Given the description of an element on the screen output the (x, y) to click on. 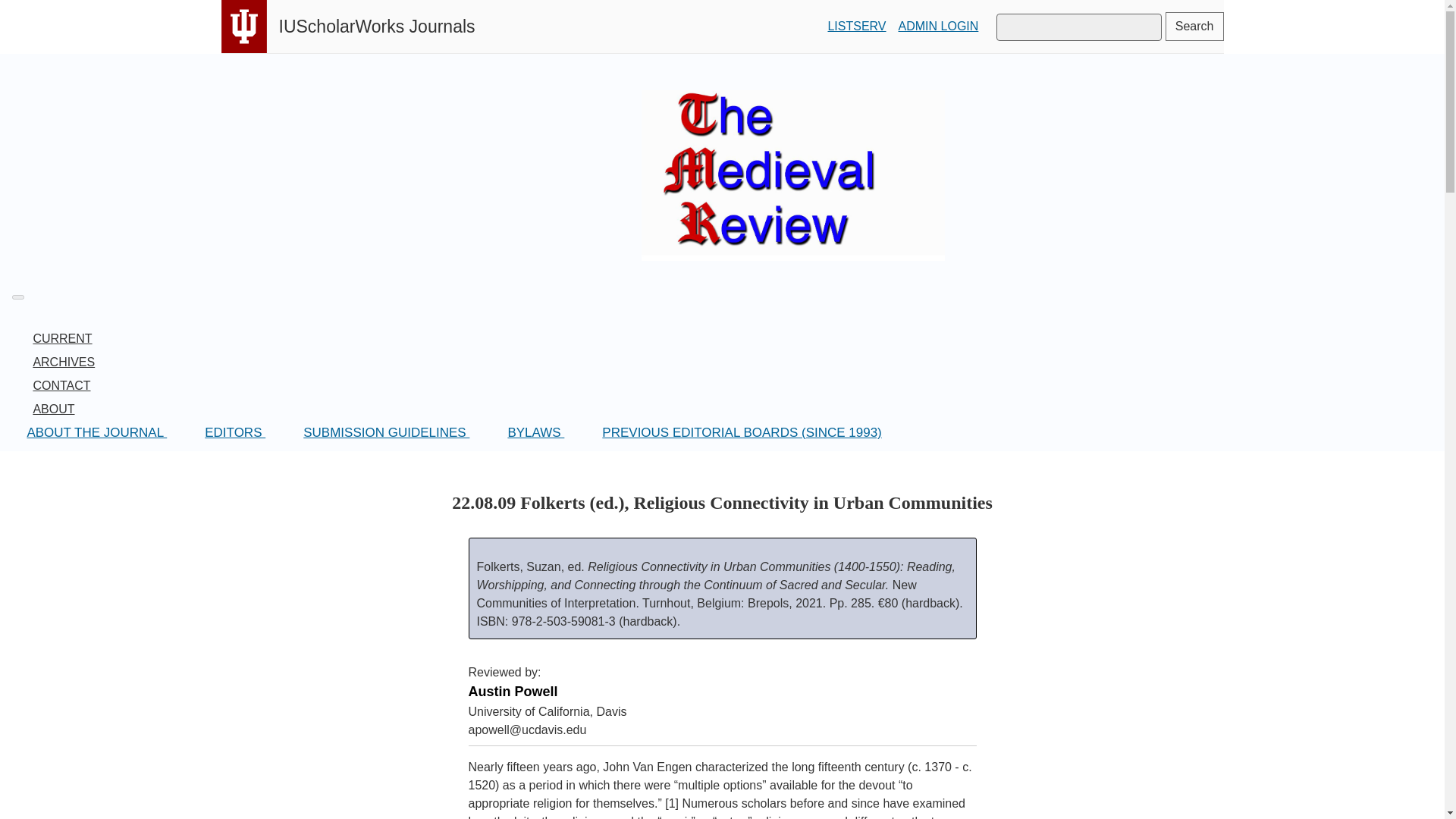
CURRENT (62, 338)
SUBMISSION GUIDELINES (386, 432)
EDITORS (235, 432)
IUScholarWorks Journals (377, 26)
ADMIN LOGIN (938, 26)
LISTSERV (856, 26)
ARCHIVES (63, 362)
CONTACT (61, 385)
Search (1195, 26)
BYLAWS (535, 432)
ABOUT (53, 408)
ABOUT THE JOURNAL (96, 432)
